Given the description of an element on the screen output the (x, y) to click on. 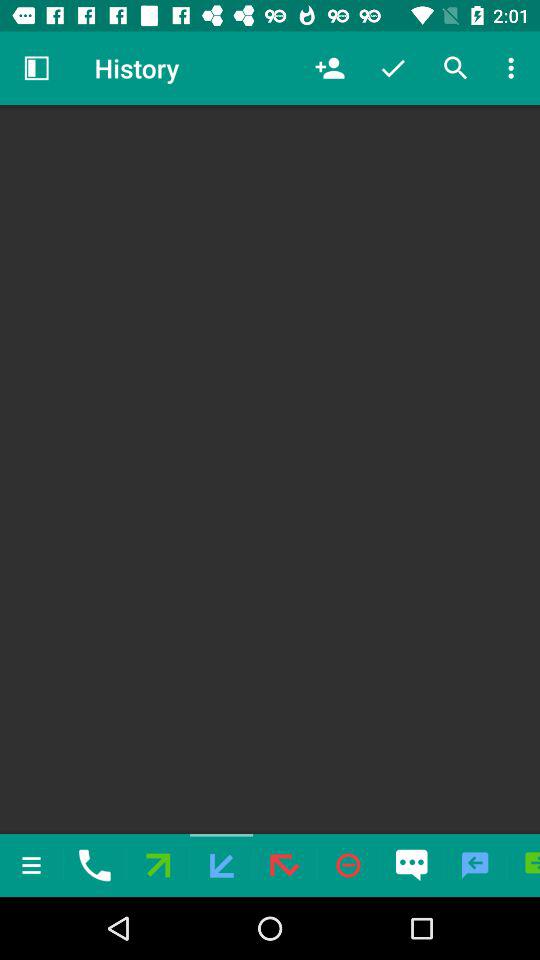
turn off item next to history (329, 67)
